Given the description of an element on the screen output the (x, y) to click on. 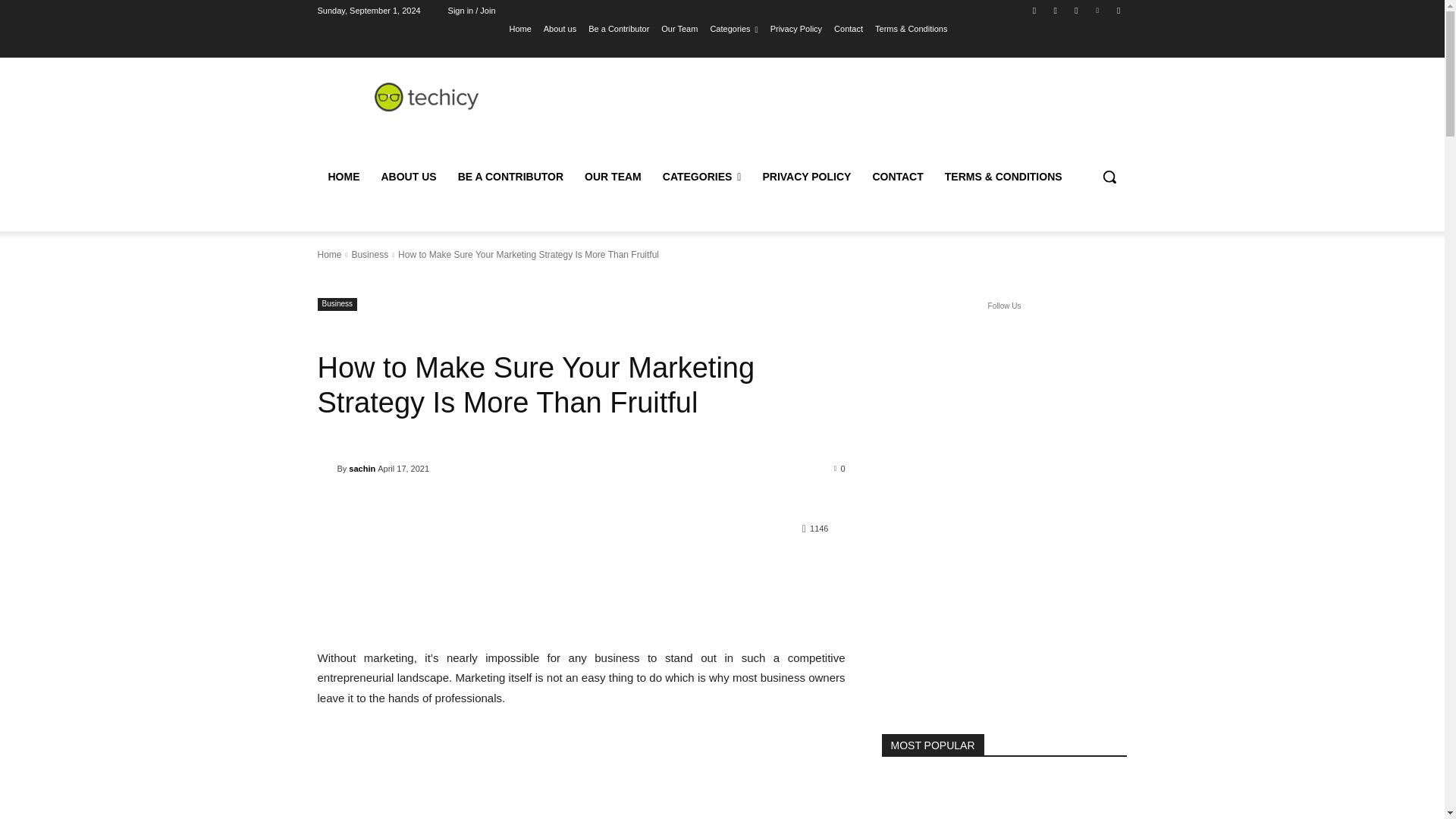
About us (559, 28)
Home (519, 28)
Privacy Policy (796, 28)
View all posts in Business (369, 254)
Twitter (1075, 9)
Be a Contributor (618, 28)
Facebook (1034, 9)
Vimeo (1097, 9)
Our Team (679, 28)
sachin (326, 468)
